Given the description of an element on the screen output the (x, y) to click on. 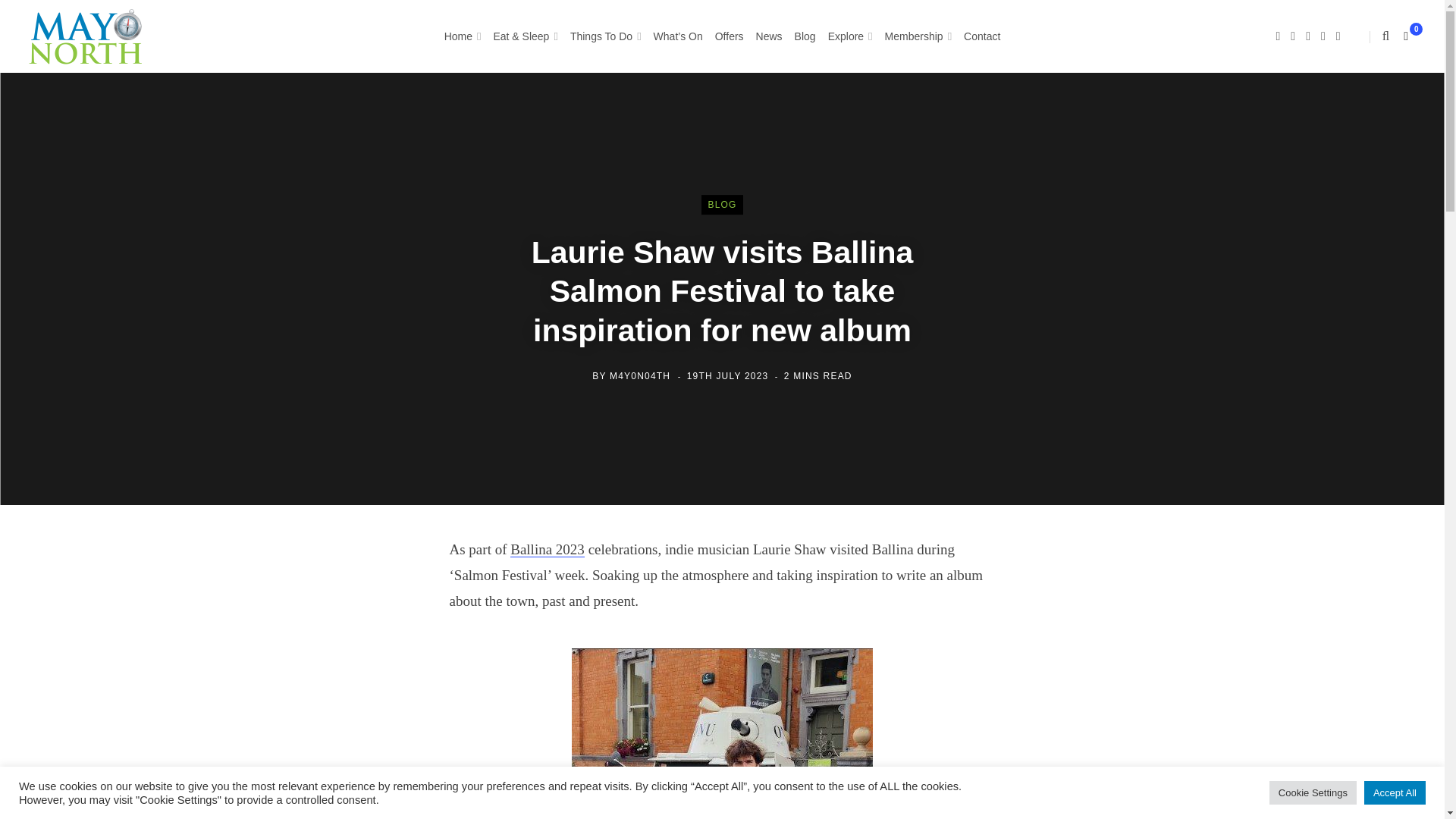
Things To Do (605, 36)
Posts by m4Y0N04TH (639, 376)
Visit North Mayo (85, 36)
